Given the description of an element on the screen output the (x, y) to click on. 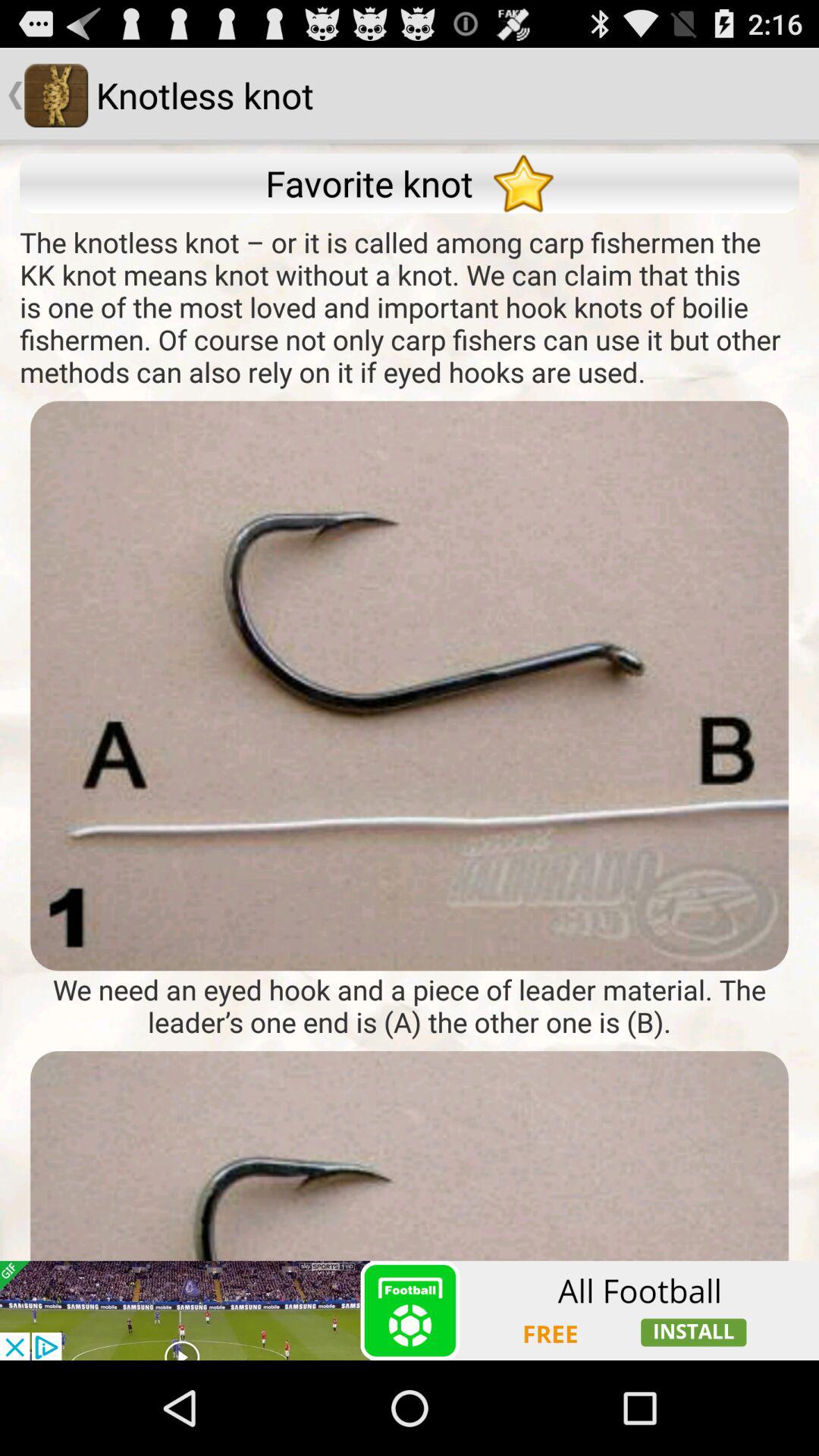
words (409, 685)
